Given the description of an element on the screen output the (x, y) to click on. 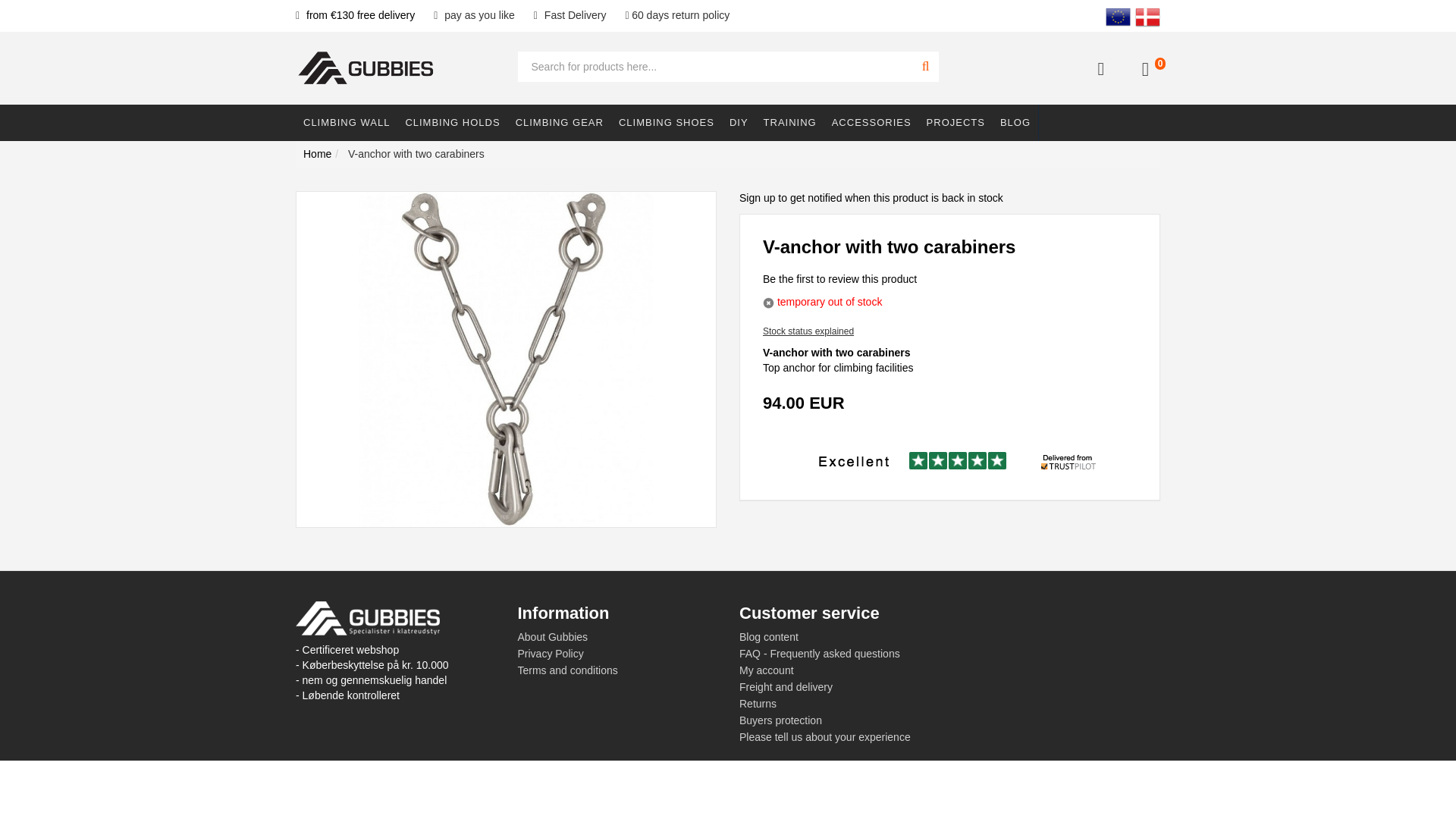
CLIMBING WALL (346, 122)
